Given the description of an element on the screen output the (x, y) to click on. 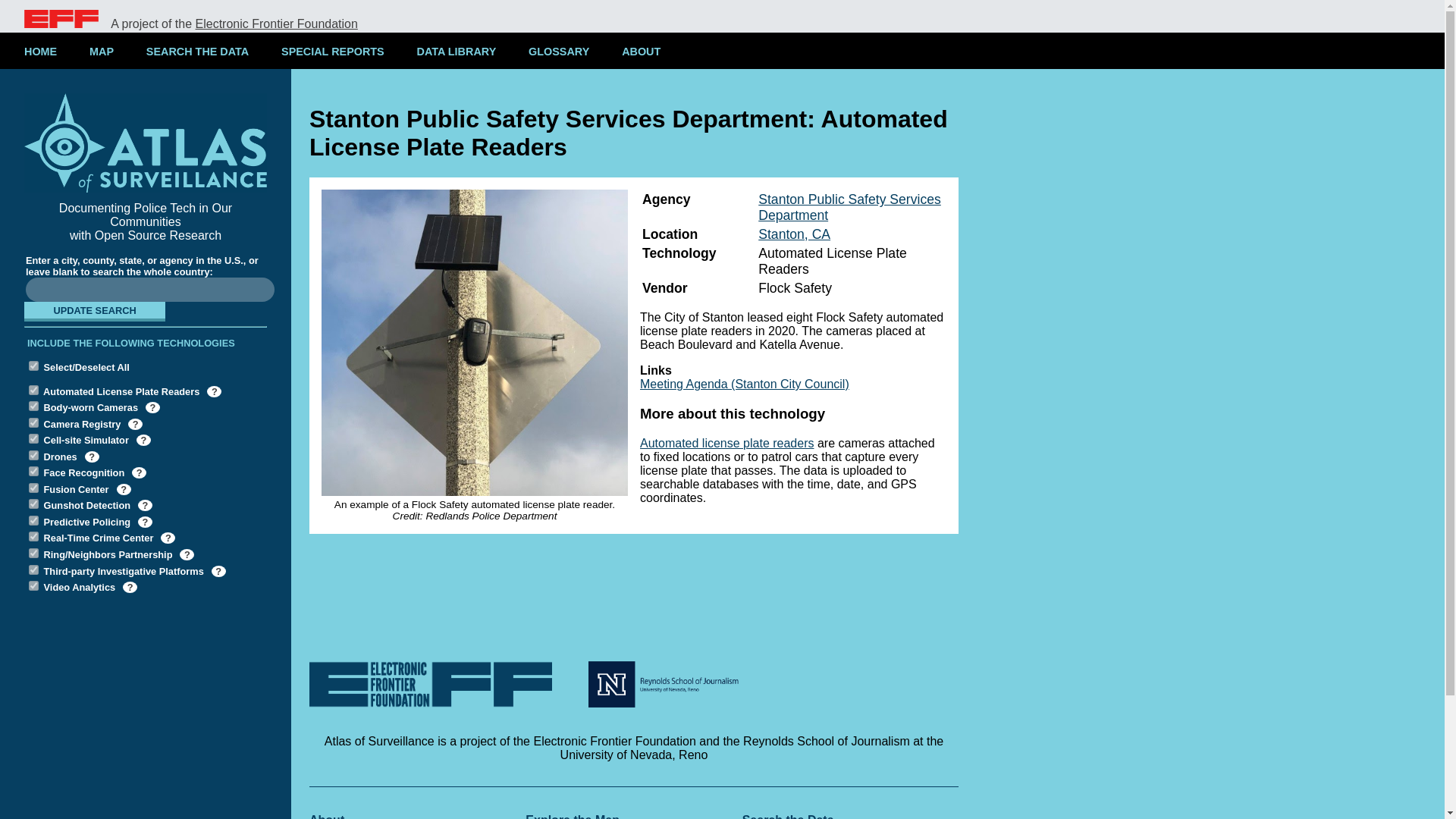
Stanton Public Safety Services Department (849, 206)
DATA LIBRARY (456, 51)
on (34, 470)
on (34, 536)
on (34, 389)
SPECIAL REPORTS (332, 51)
SEARCH THE DATA (197, 51)
on (34, 569)
Update Search (94, 311)
